Given the description of an element on the screen output the (x, y) to click on. 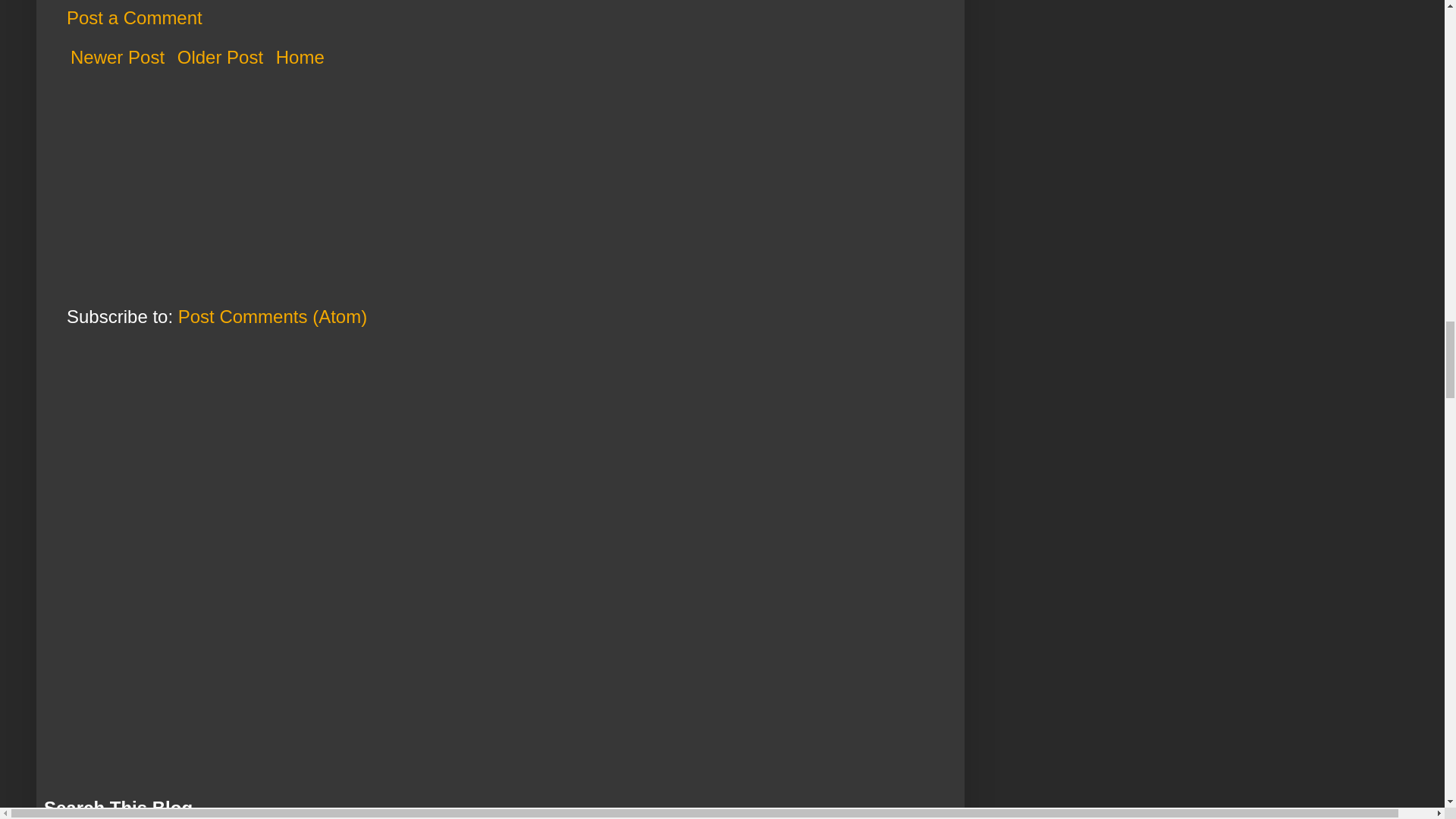
Newer Post (117, 57)
Newer Post (117, 57)
Older Post (219, 57)
Post a Comment (134, 17)
Older Post (219, 57)
Home (300, 57)
